Given the description of an element on the screen output the (x, y) to click on. 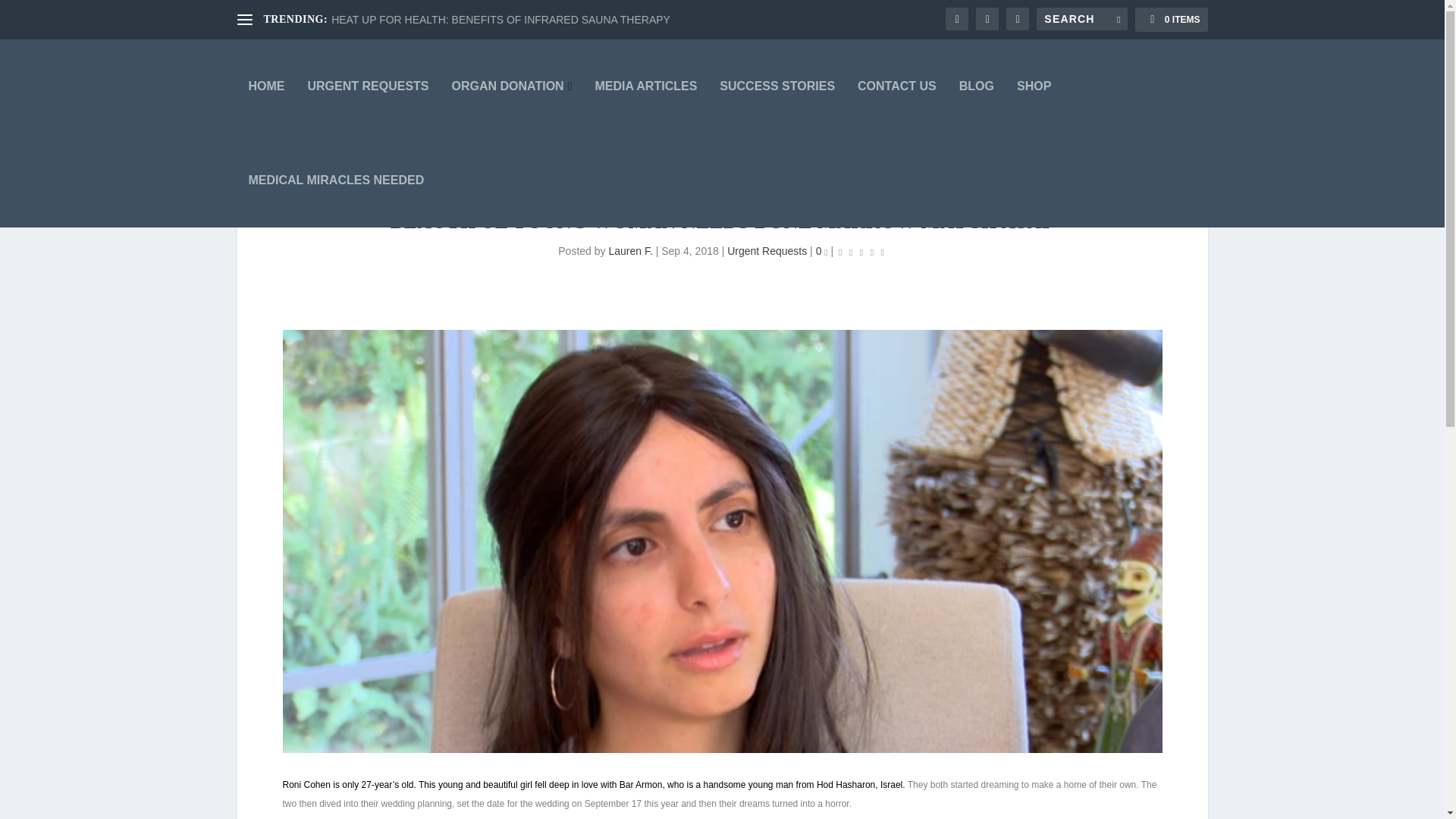
0 ITEMS (1171, 19)
URGENT REQUESTS (368, 86)
HEAT UP FOR HEALTH: BENEFITS OF INFRARED SAUNA THERAPY (500, 19)
ORGAN DONATION (511, 86)
Search for: (1081, 18)
Posts by Lauren F. (630, 250)
SUCCESS STORIES (776, 86)
Rating: 0.00 (860, 251)
MEDICAL MIRACLES NEEDED (336, 180)
0 Items in Cart (1171, 19)
MEDIA ARTICLES (645, 86)
